Given the description of an element on the screen output the (x, y) to click on. 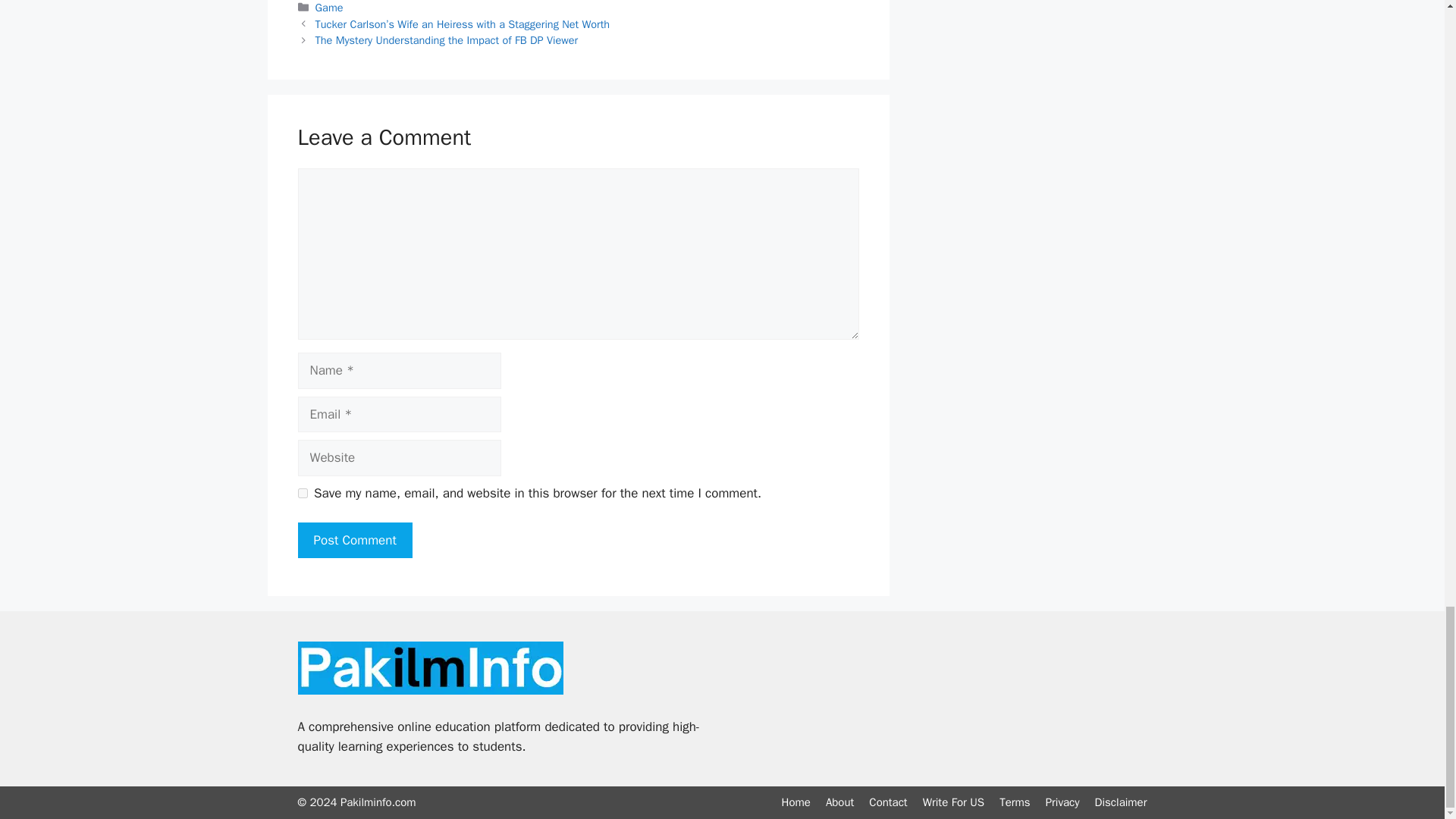
Post Comment (354, 540)
yes (302, 492)
The Mystery Understanding the Impact of FB DP Viewer (446, 39)
Game (329, 7)
Post Comment (354, 540)
